Given the description of an element on the screen output the (x, y) to click on. 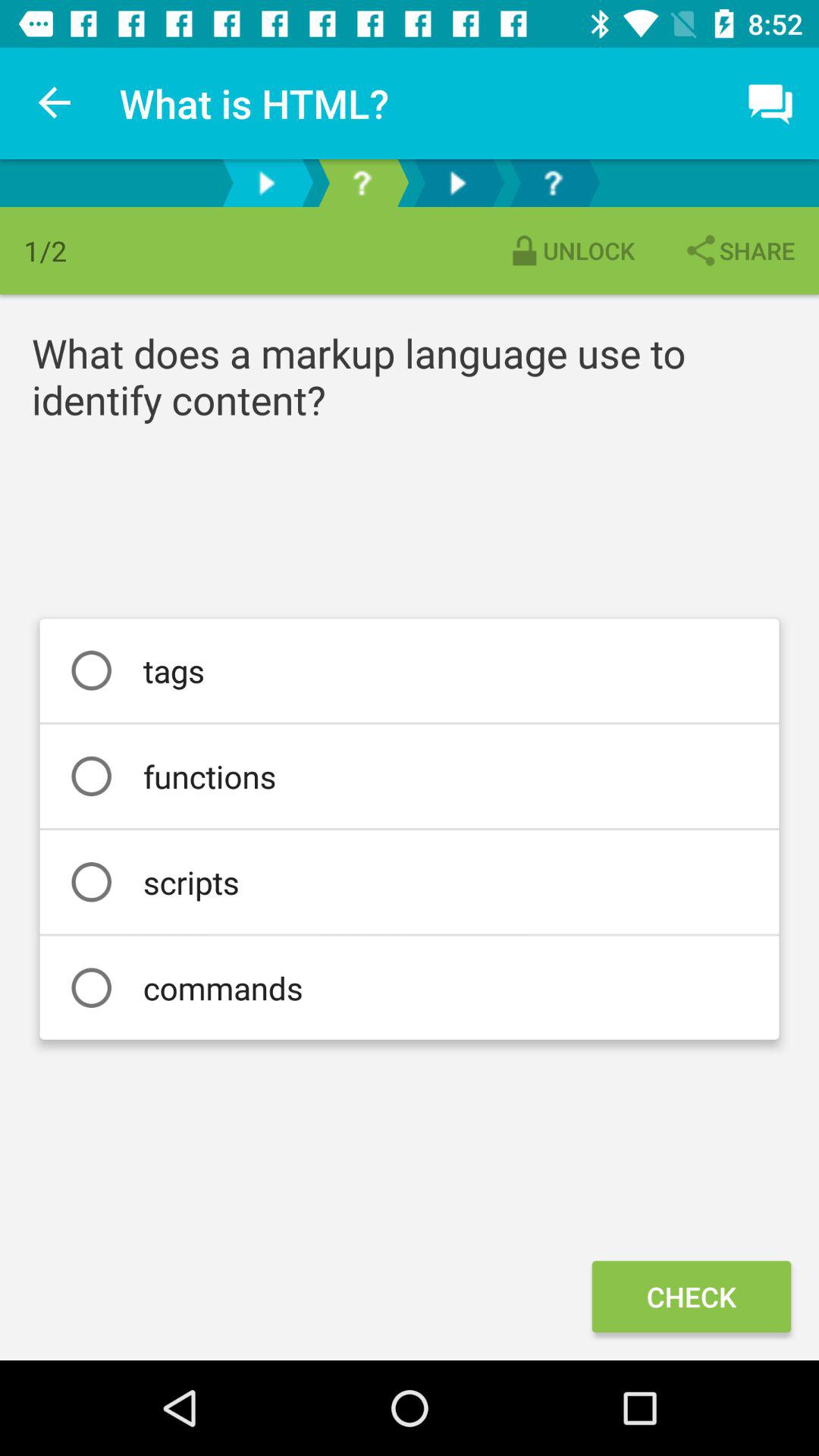
select the item next to the what is html? item (55, 103)
